Given the description of an element on the screen output the (x, y) to click on. 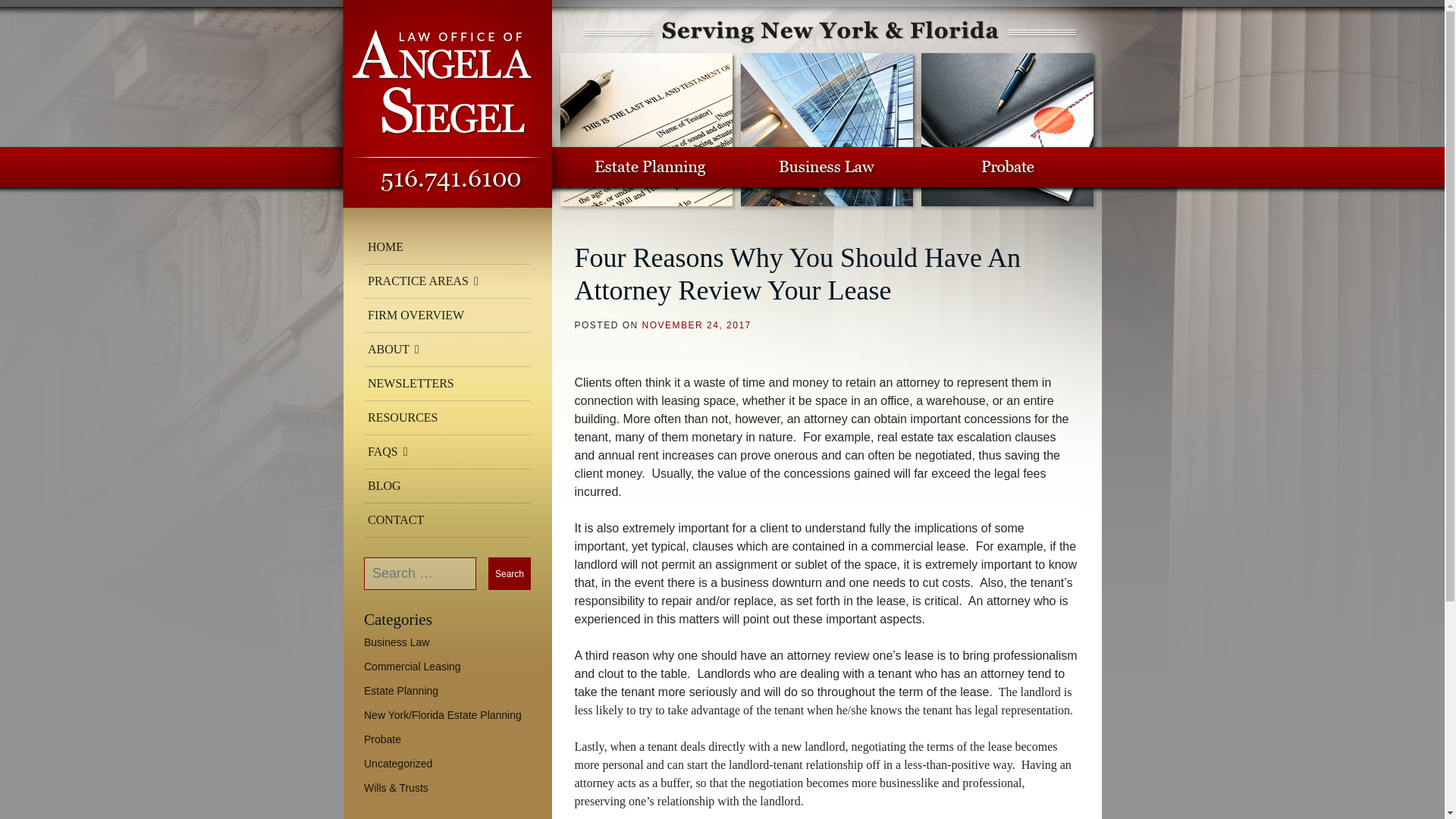
ABOUT (447, 349)
Search (509, 573)
Search for: (420, 573)
Commercial Leasing (412, 666)
NEWSLETTERS (447, 383)
Estate Planning (401, 690)
Uncategorized (398, 763)
Search (509, 573)
PRACTICE AREAS (447, 281)
Probate (382, 739)
BLOG (447, 486)
FAQS (447, 451)
Business Law (396, 642)
HOME (447, 247)
NOVEMBER 24, 2017 (696, 325)
